Given the description of an element on the screen output the (x, y) to click on. 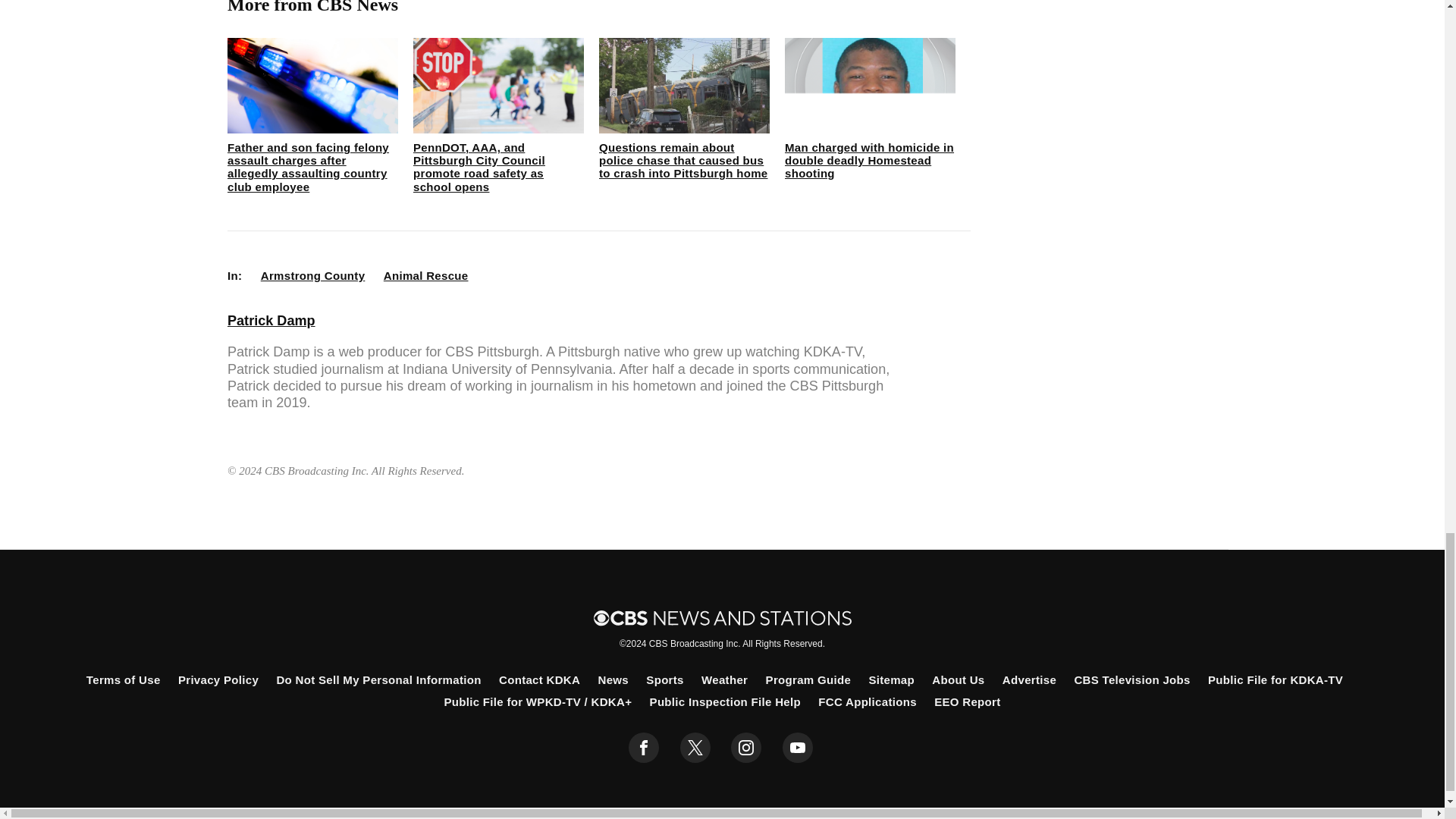
youtube (797, 747)
twitter (694, 747)
facebook (643, 747)
instagram (745, 747)
